Given the description of an element on the screen output the (x, y) to click on. 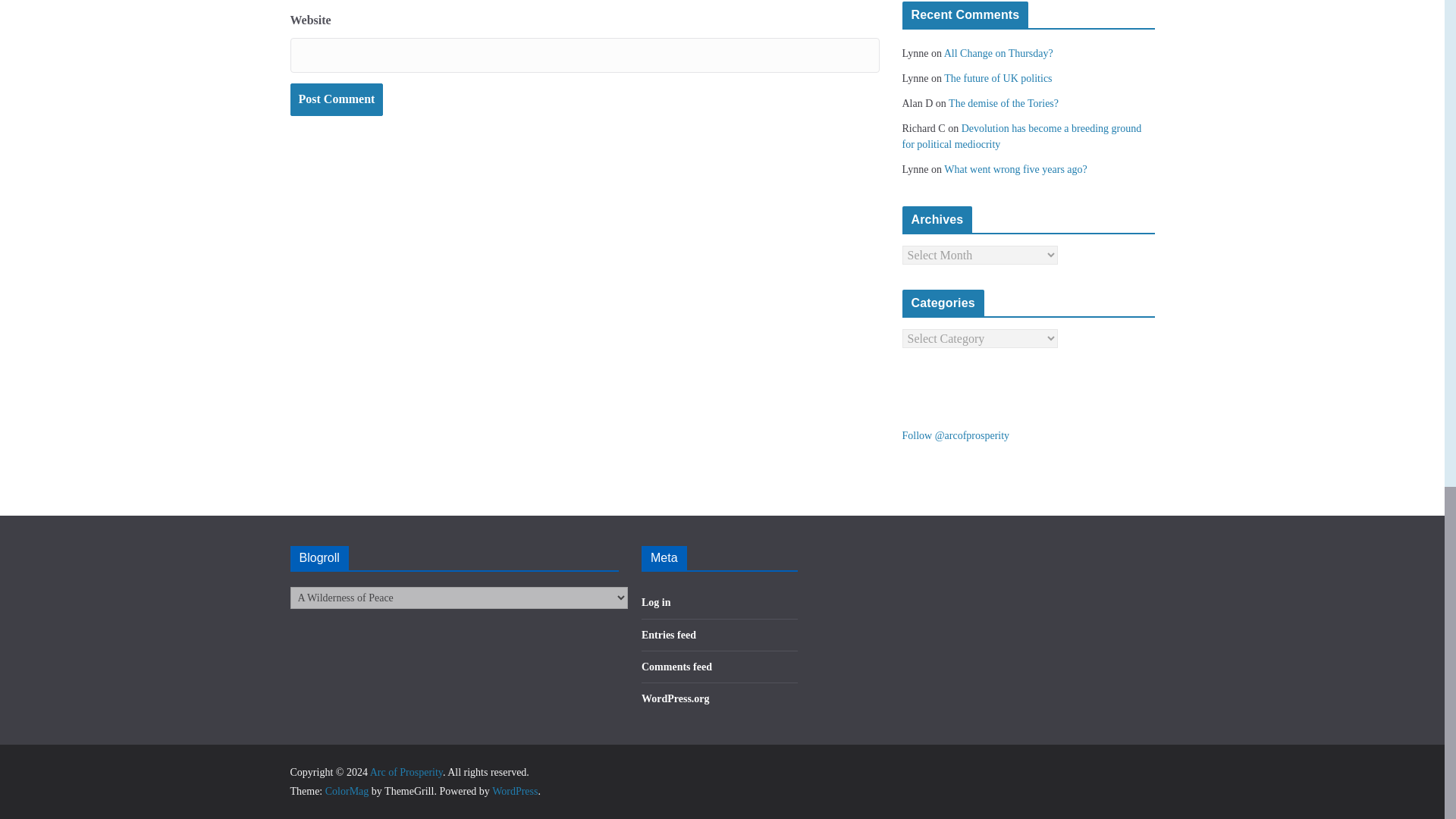
Arc of Prosperity (405, 772)
WordPress (514, 790)
ColorMag (346, 790)
Post Comment (335, 99)
Post Comment (335, 99)
